Given the description of an element on the screen output the (x, y) to click on. 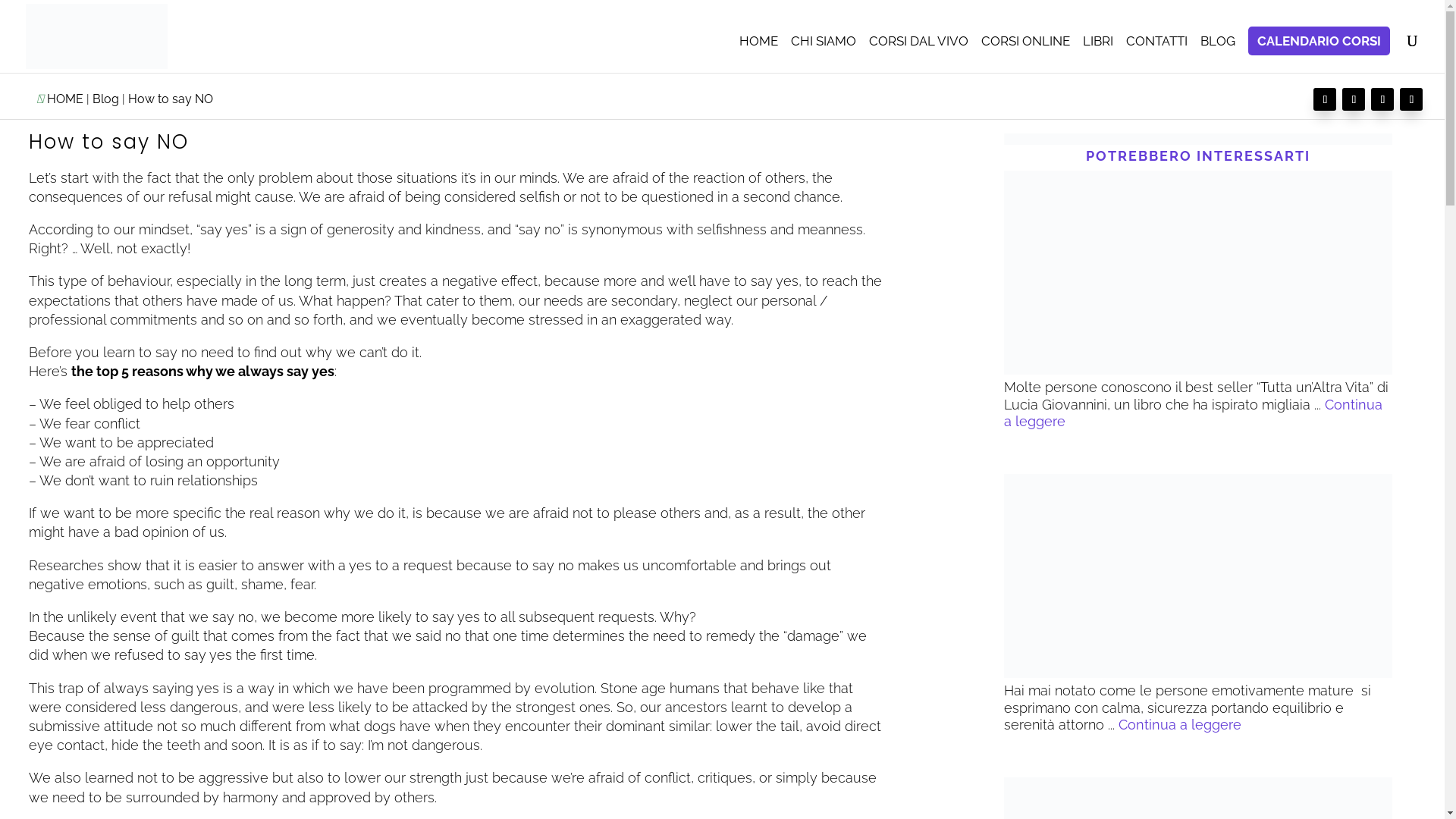
HOME (64, 98)
Home (758, 54)
CONTATTI (1156, 54)
APG - Modulo di PNL -neurosemantica e Coaching (1197, 139)
Segui su Youtube (1382, 98)
Segui su Facebook (1353, 98)
Segui su Instagram (1324, 98)
CALENDARIO CORSI (1318, 40)
Blog (1216, 54)
HOME (758, 54)
